Given the description of an element on the screen output the (x, y) to click on. 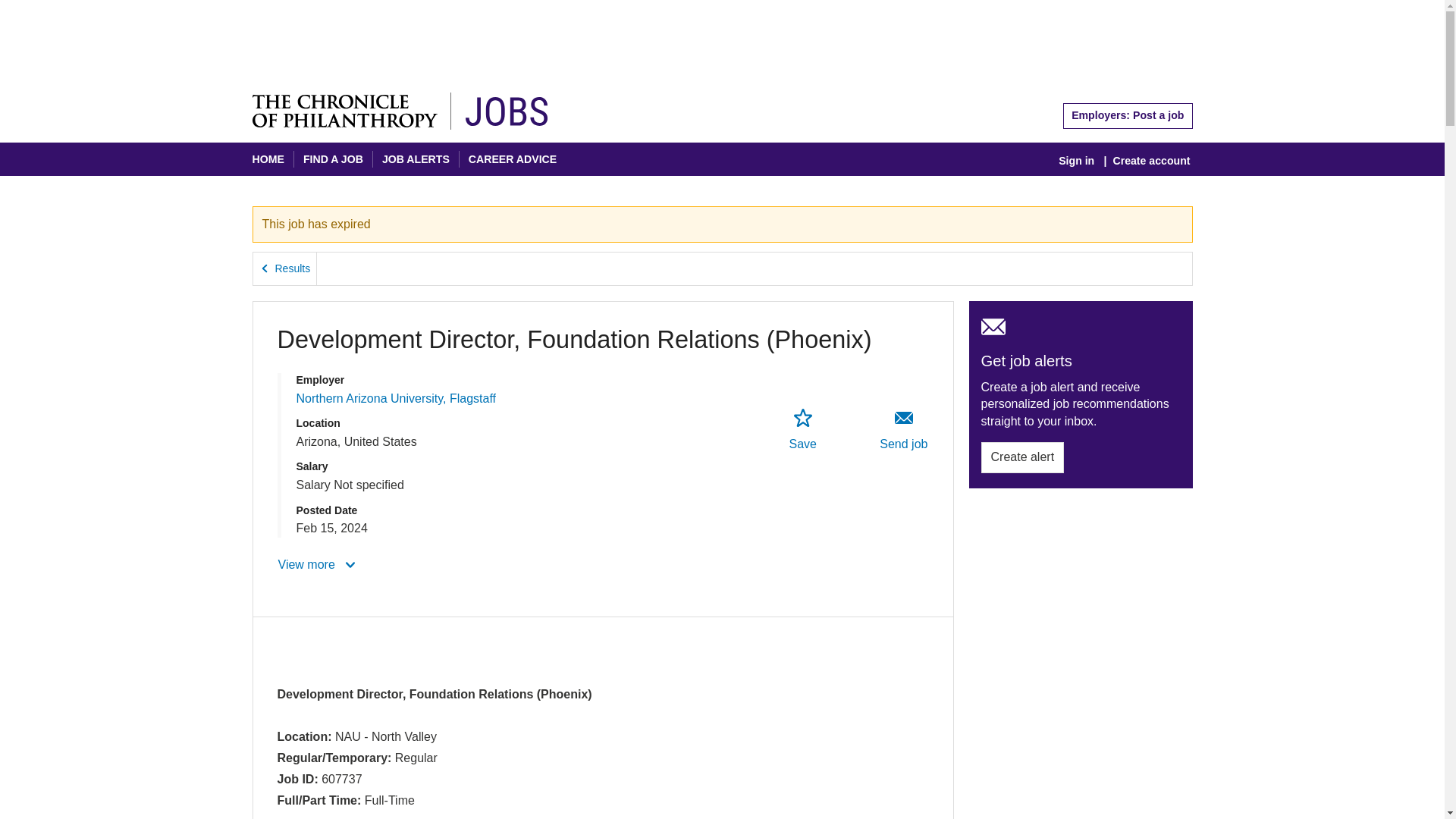
HOME (267, 160)
Sign in (1076, 161)
FIND A JOB (332, 160)
Create account (1150, 161)
JOB ALERTS (415, 160)
3rd party ad content (721, 39)
Employers: Post a job (1127, 115)
Results (285, 268)
View more (318, 565)
Create alert (1022, 457)
Northern Arizona University, Flagstaff (395, 398)
